Given the description of an element on the screen output the (x, y) to click on. 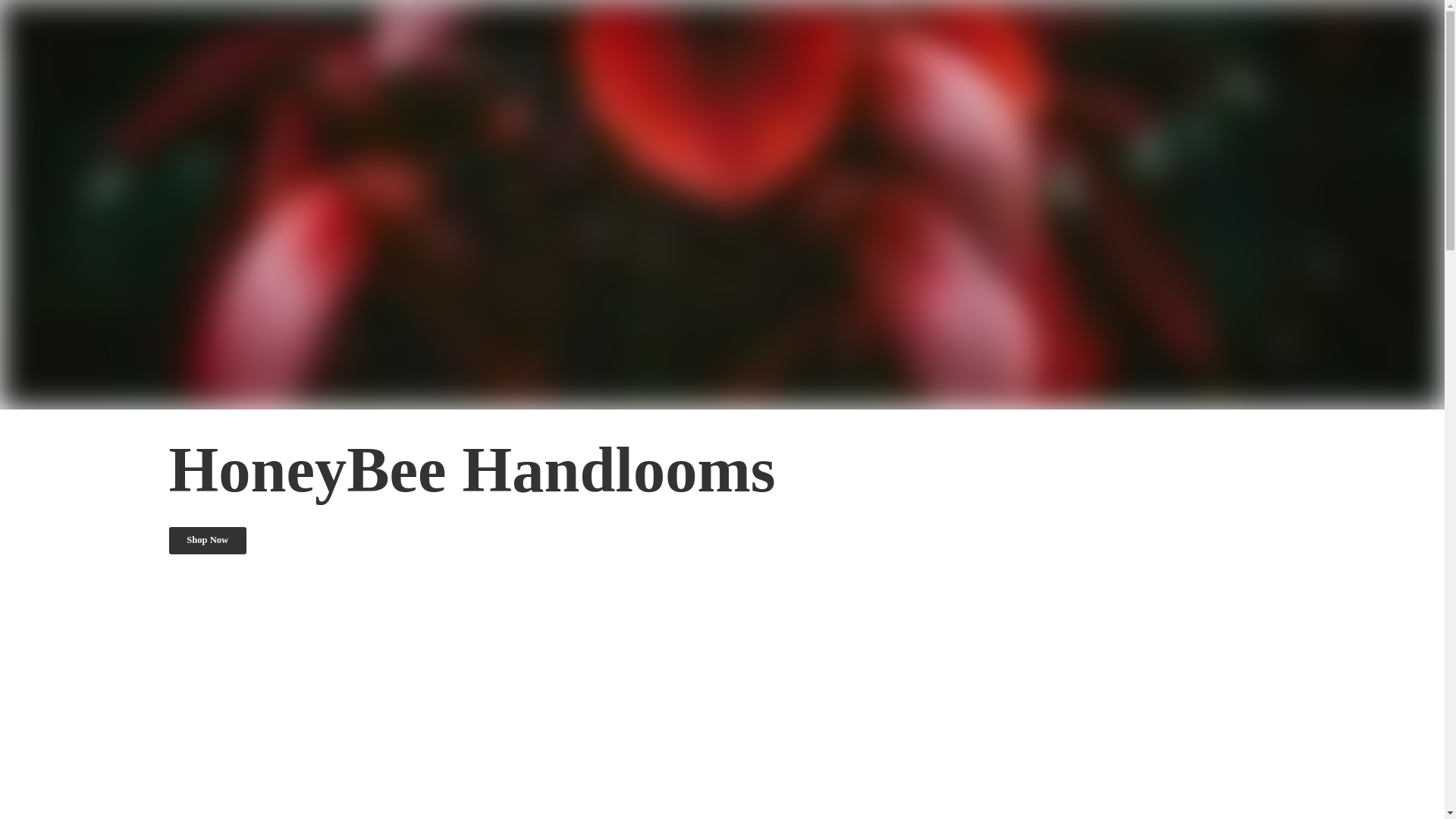
Shop Now (207, 540)
